Given the description of an element on the screen output the (x, y) to click on. 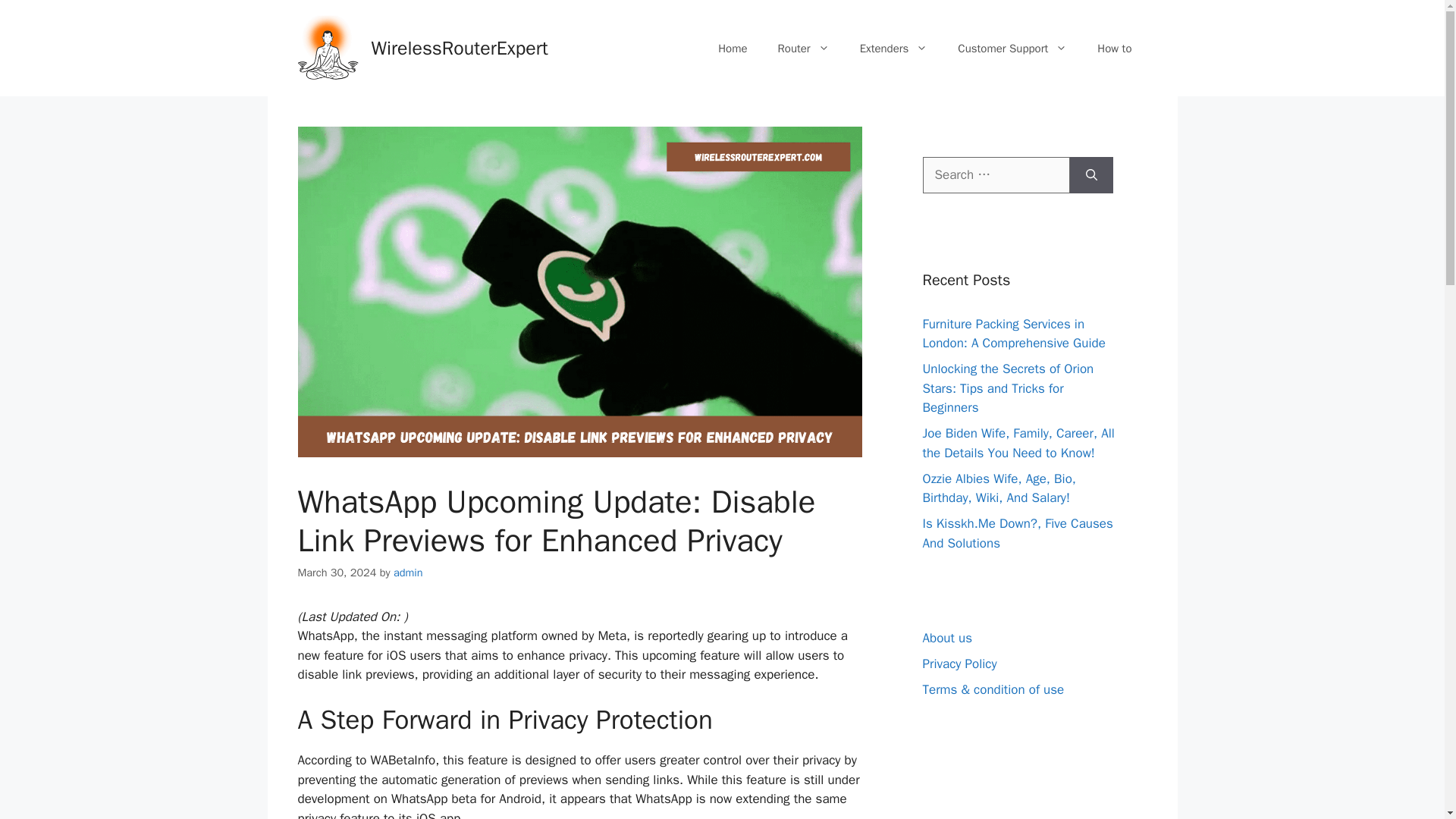
Router (803, 48)
Search for: (994, 175)
How to (1114, 48)
Customer Support (1011, 48)
WirelessRouterExpert (459, 47)
View all posts by admin (408, 572)
Extenders (893, 48)
Home (732, 48)
admin (408, 572)
